Given the description of an element on the screen output the (x, y) to click on. 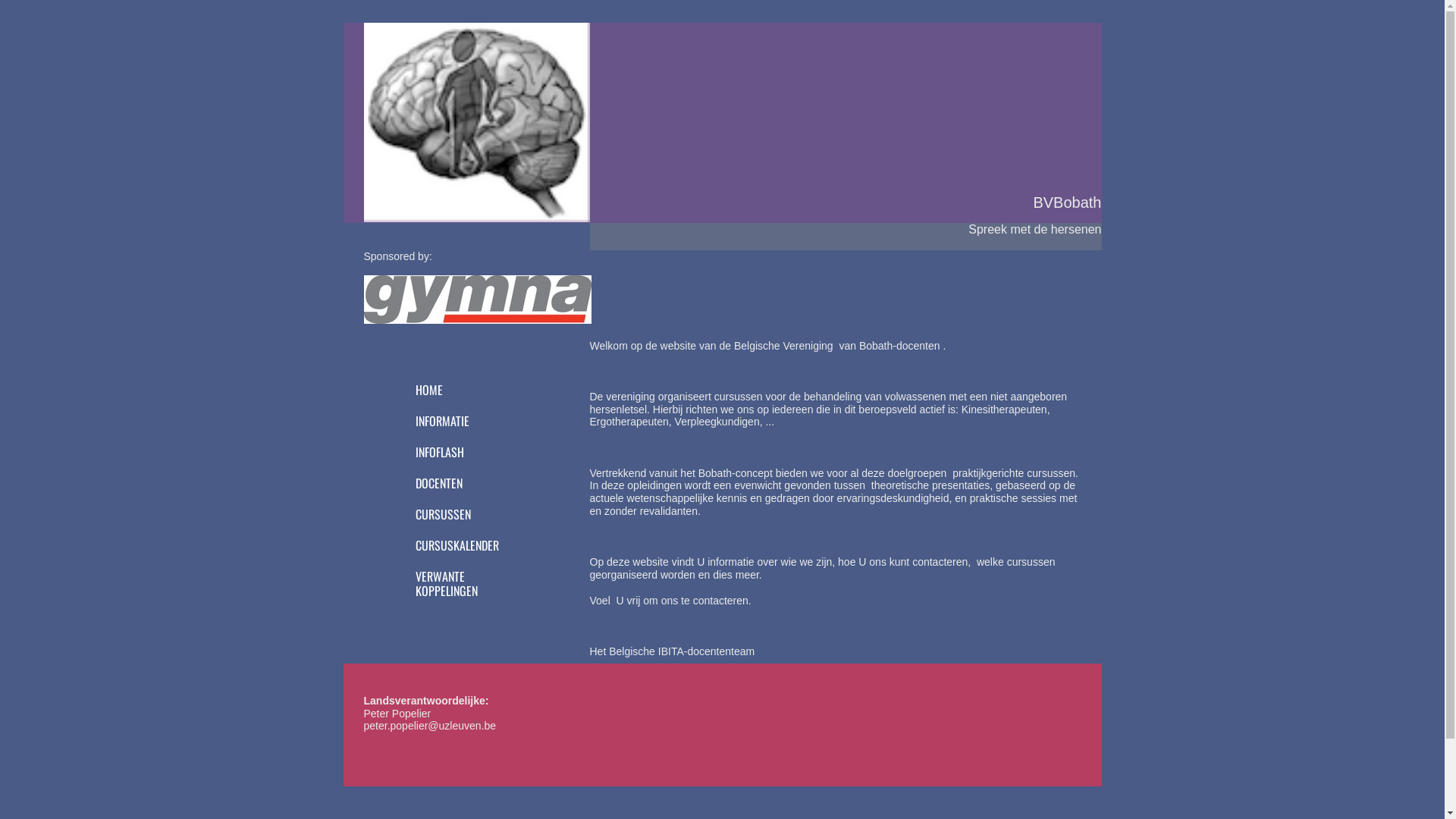
VERWANTE KOPPELINGEN Element type: text (456, 585)
INFOFLASH Element type: text (456, 453)
DOCENTEN Element type: text (456, 484)
CURSUSSEN Element type: text (456, 515)
INFORMATIE Element type: text (456, 422)
CURSUSKALENDER Element type: text (456, 546)
HOME Element type: text (456, 391)
